Given the description of an element on the screen output the (x, y) to click on. 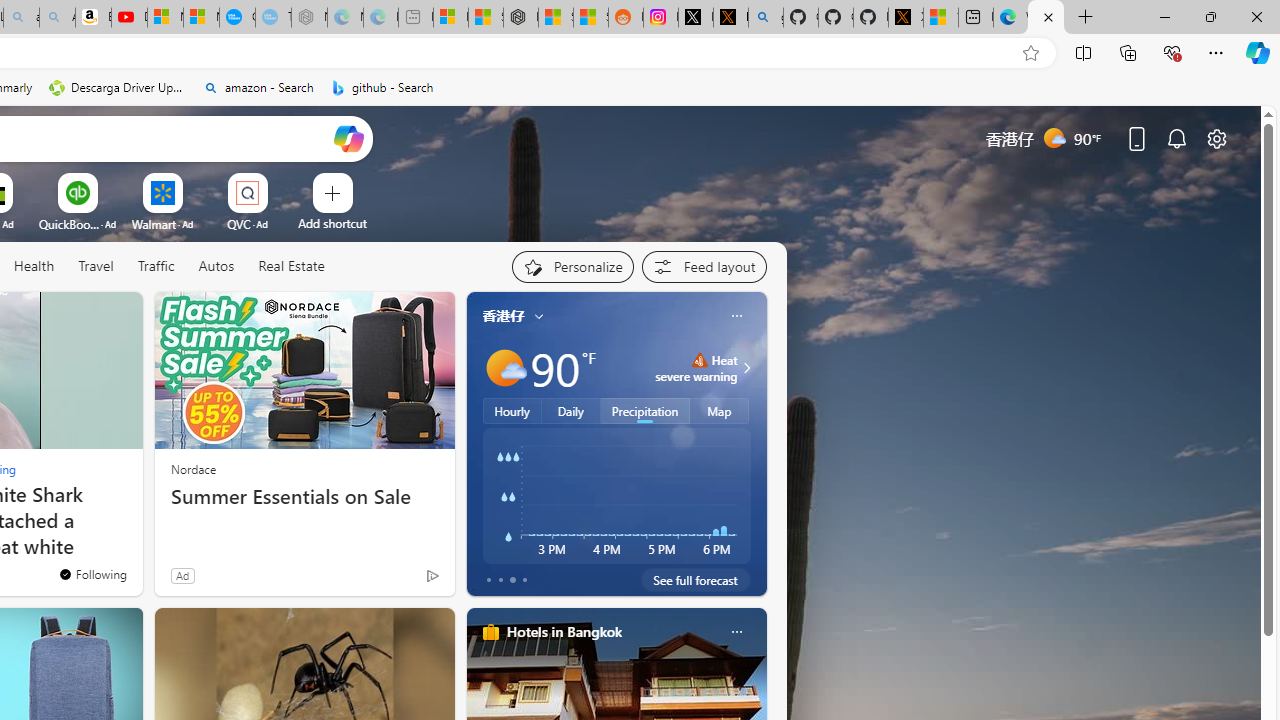
Browser essentials (1171, 52)
Ad Choice (432, 575)
Feed settings (703, 266)
Travel (95, 267)
You're following The Weather Channel (390, 579)
tab-0 (488, 579)
Map (719, 411)
Heat - Severe Heat severe warning (696, 367)
Microsoft account | Microsoft Account Privacy Settings (450, 17)
X Privacy Policy (905, 17)
Ad (182, 575)
github - Search (381, 88)
tab-3 (524, 579)
tab-1 (500, 579)
